Given the description of an element on the screen output the (x, y) to click on. 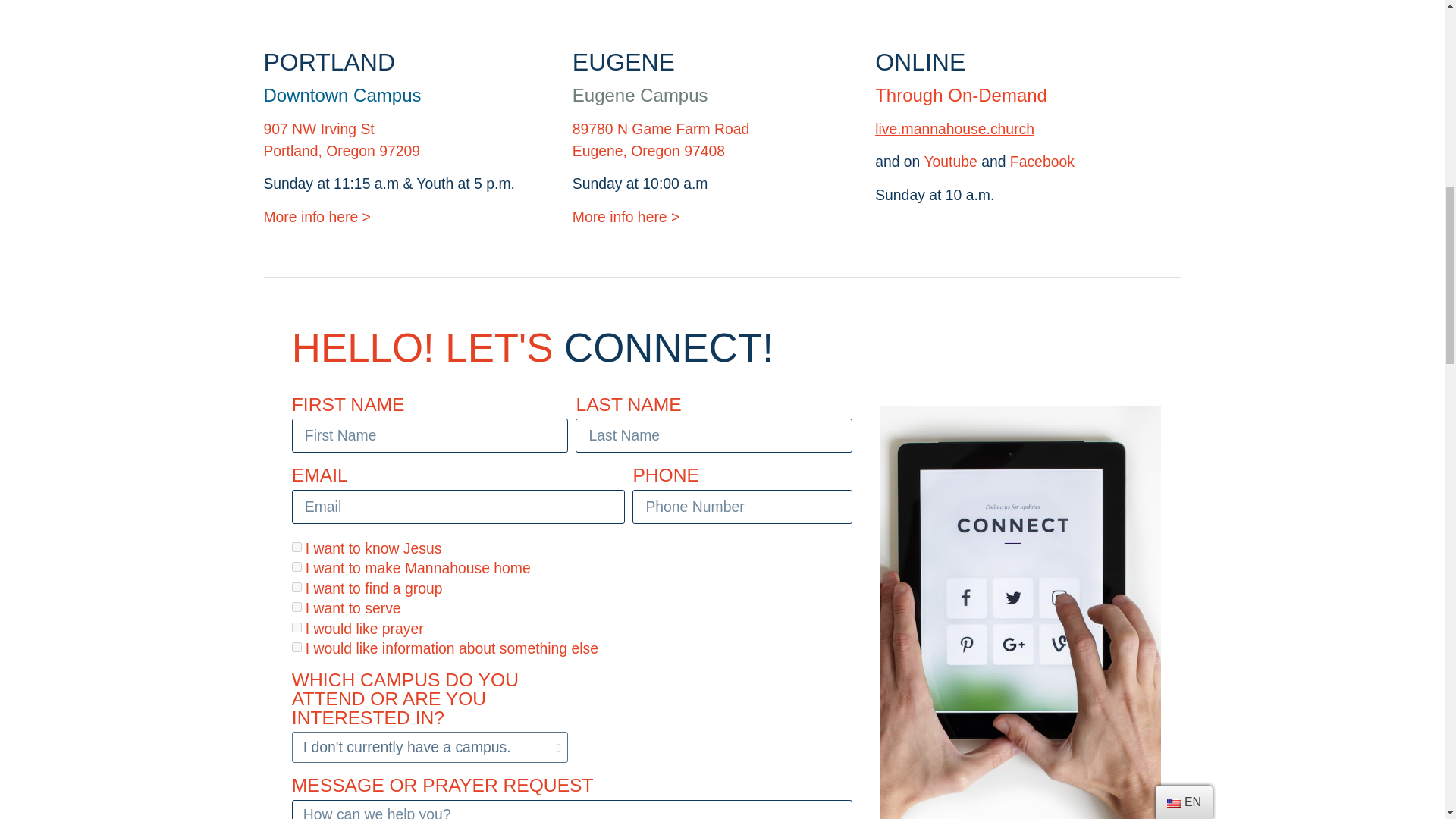
I want to know Jesus (296, 547)
I want to find a group (296, 587)
I would like prayer (296, 627)
I would like information about something else (296, 646)
I want to serve (296, 606)
I want to make Mannahouse home (296, 566)
